Given the description of an element on the screen output the (x, y) to click on. 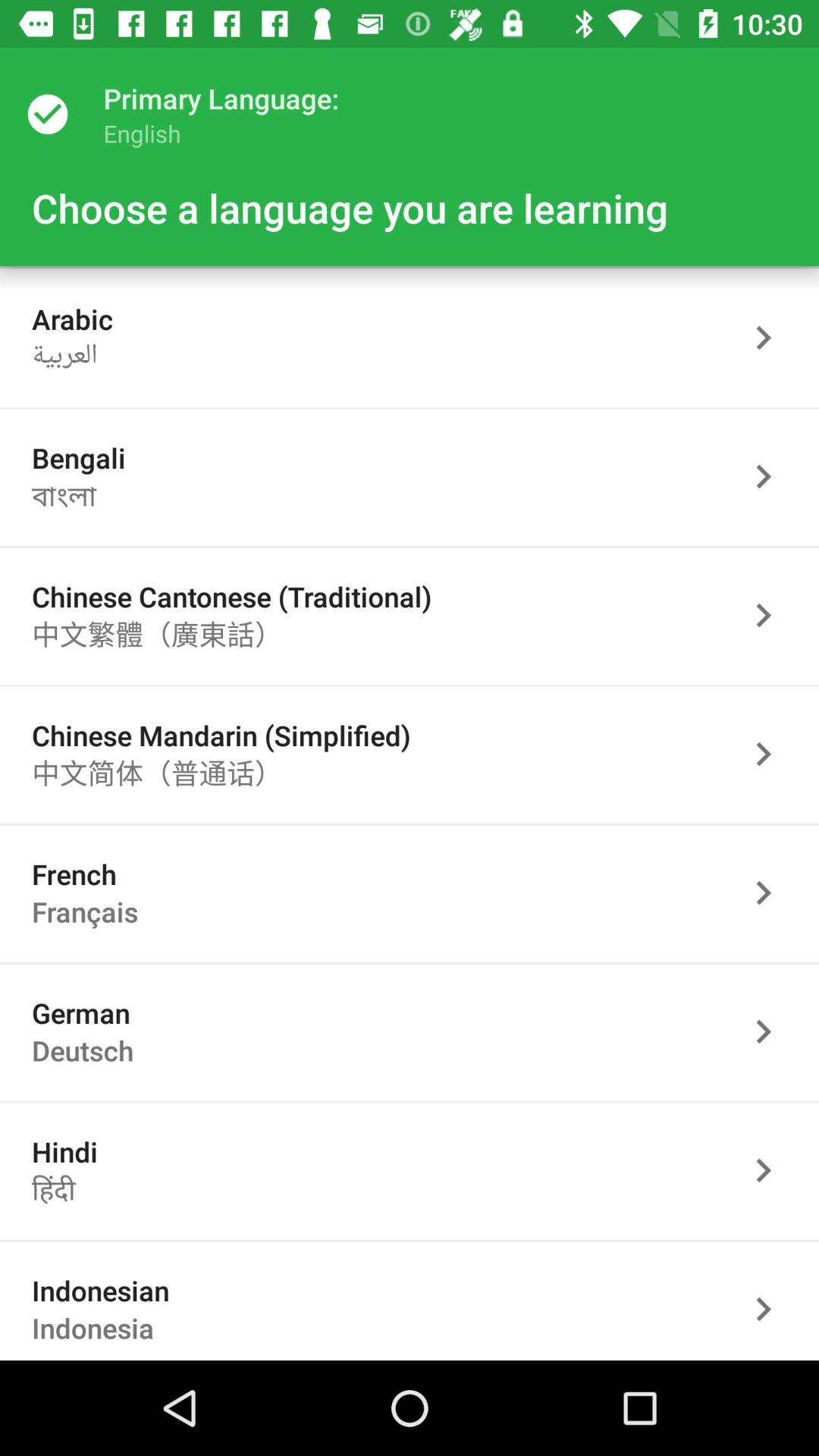
go forward (771, 615)
